Given the description of an element on the screen output the (x, y) to click on. 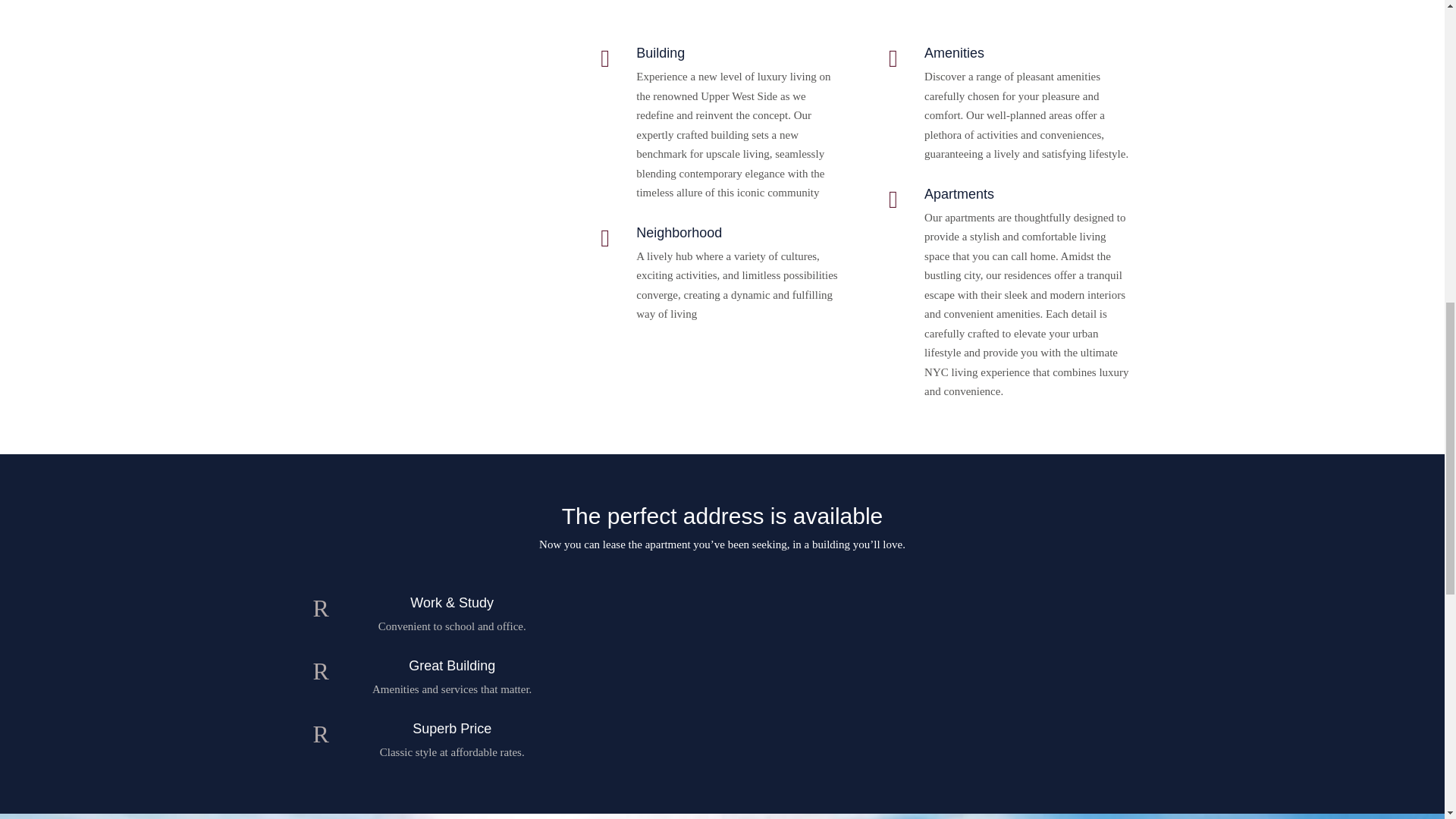
Greystone Sizzle Reel V1 (433, 40)
